Given the description of an element on the screen output the (x, y) to click on. 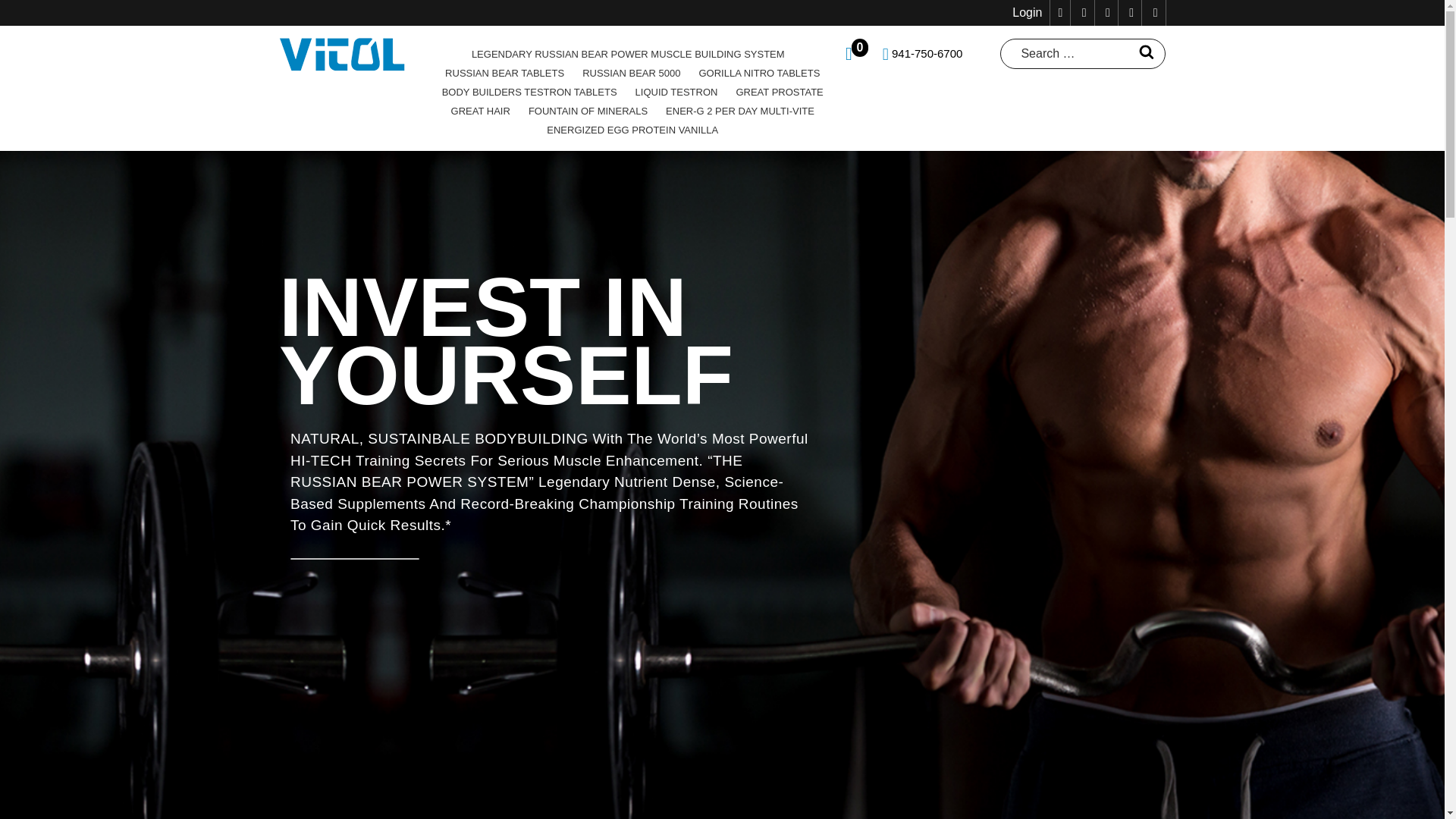
ENERGIZED EGG PROTEIN VANILLA (631, 129)
941-750-6700 (922, 52)
RUSSIAN BEAR TABLETS (504, 72)
BODY BUILDERS TESTRON TABLETS (529, 91)
FOUNTAIN OF MINERALS (587, 110)
GREAT PROSTATE (778, 91)
GREAT HAIR (480, 110)
Login (1026, 11)
LIQUID TESTRON (676, 91)
ENER-G 2 PER DAY MULTI-VITE (740, 110)
